Given the description of an element on the screen output the (x, y) to click on. 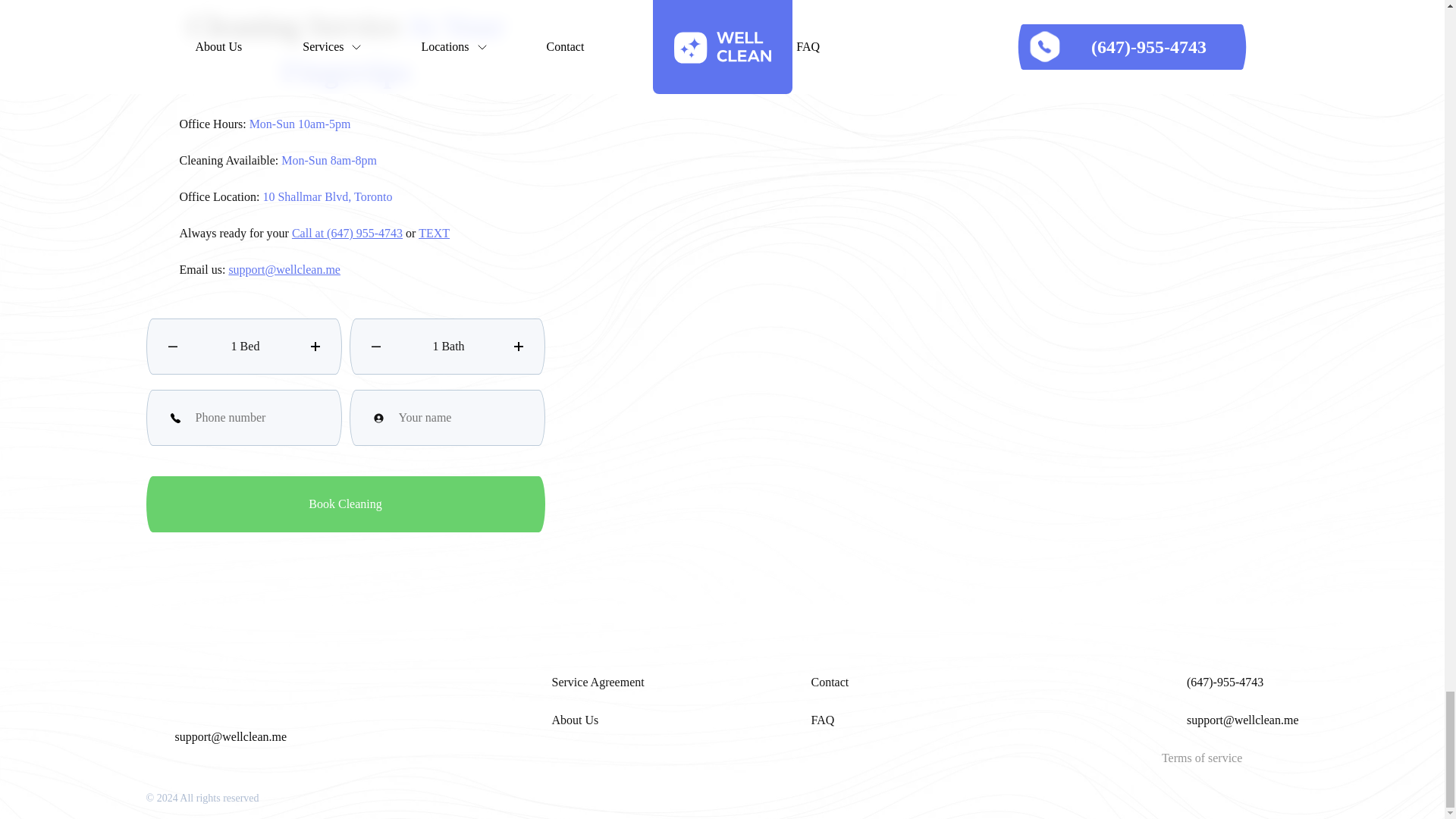
1 Bath (446, 346)
1 Bed (242, 346)
Book Cleaning (344, 503)
